Given the description of an element on the screen output the (x, y) to click on. 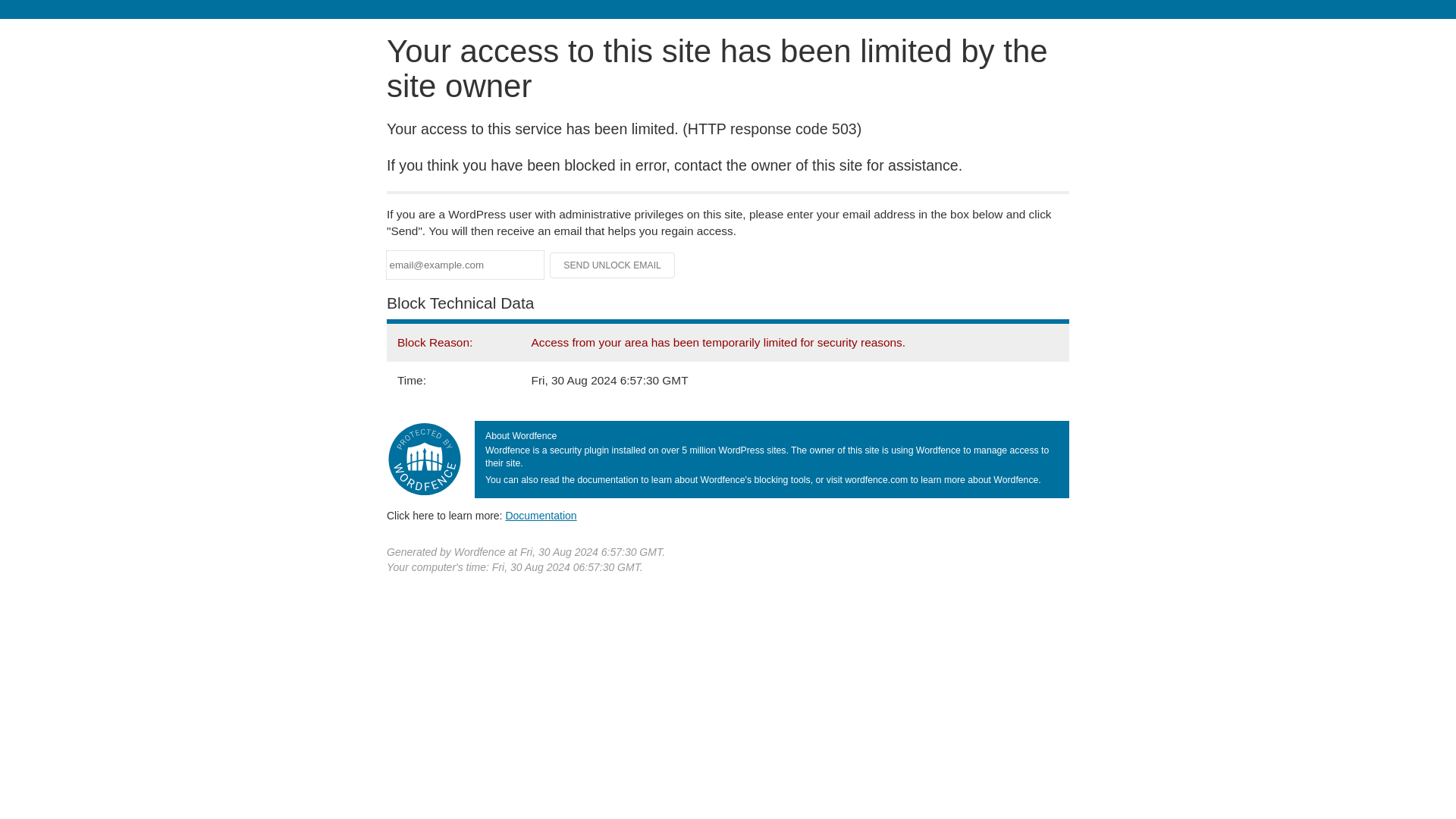
Send Unlock Email (612, 265)
Send Unlock Email (612, 265)
Documentation (540, 515)
